Given the description of an element on the screen output the (x, y) to click on. 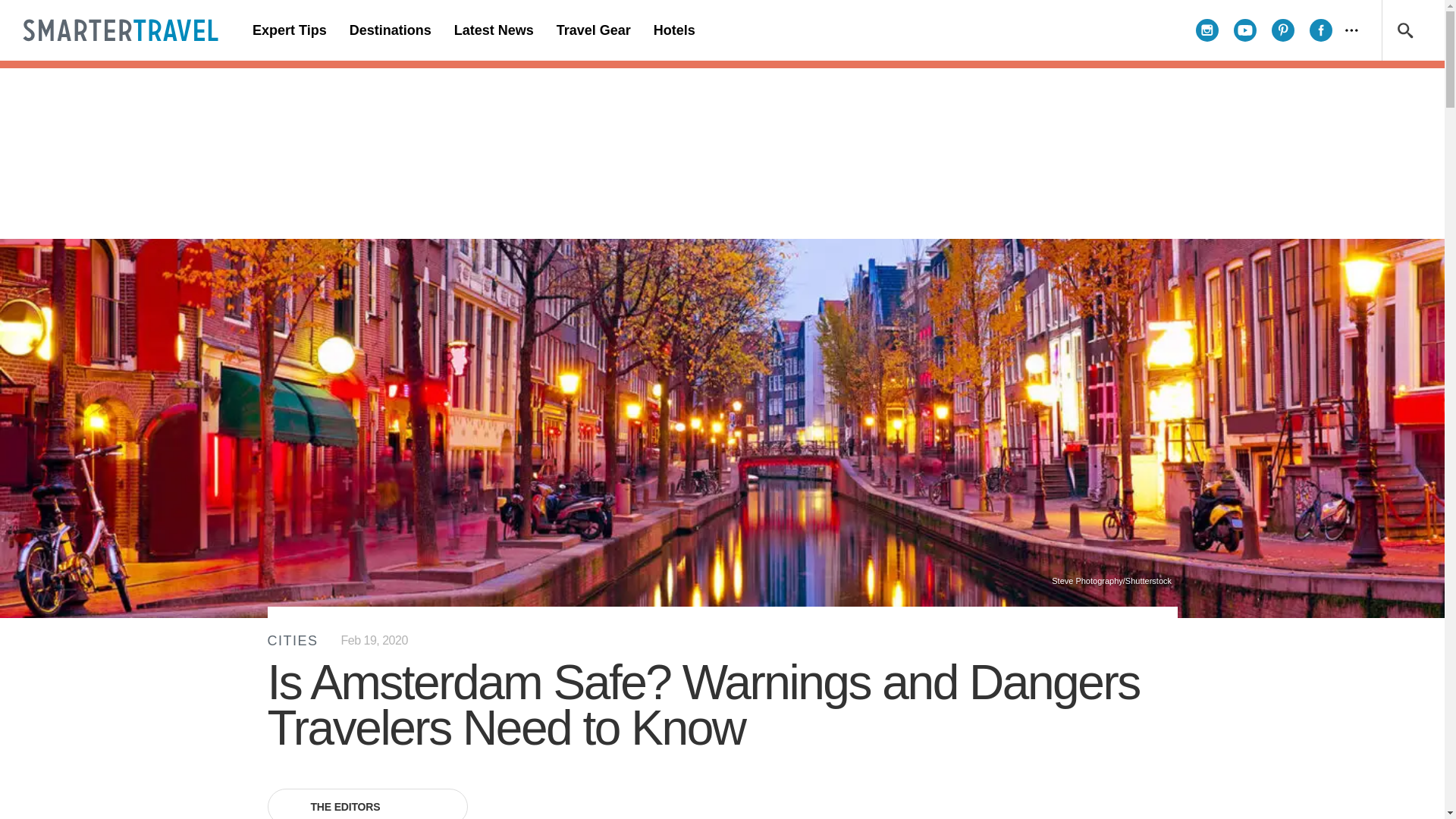
Travel Gear (593, 30)
Expert Tips (289, 30)
Destinations (389, 30)
Hotels (674, 30)
Latest News (493, 30)
